Given the description of an element on the screen output the (x, y) to click on. 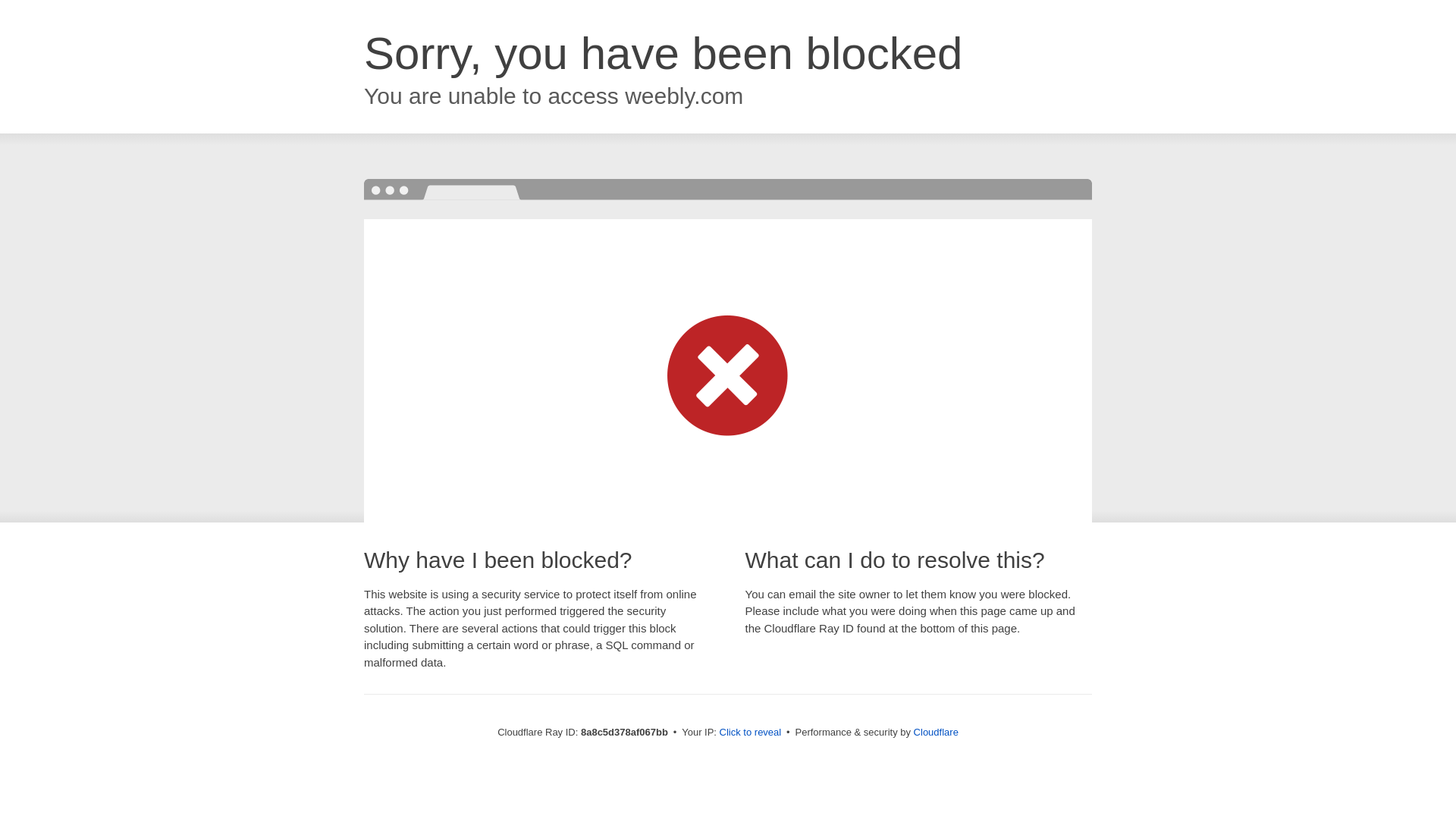
Cloudflare (936, 731)
Click to reveal (750, 732)
